Given the description of an element on the screen output the (x, y) to click on. 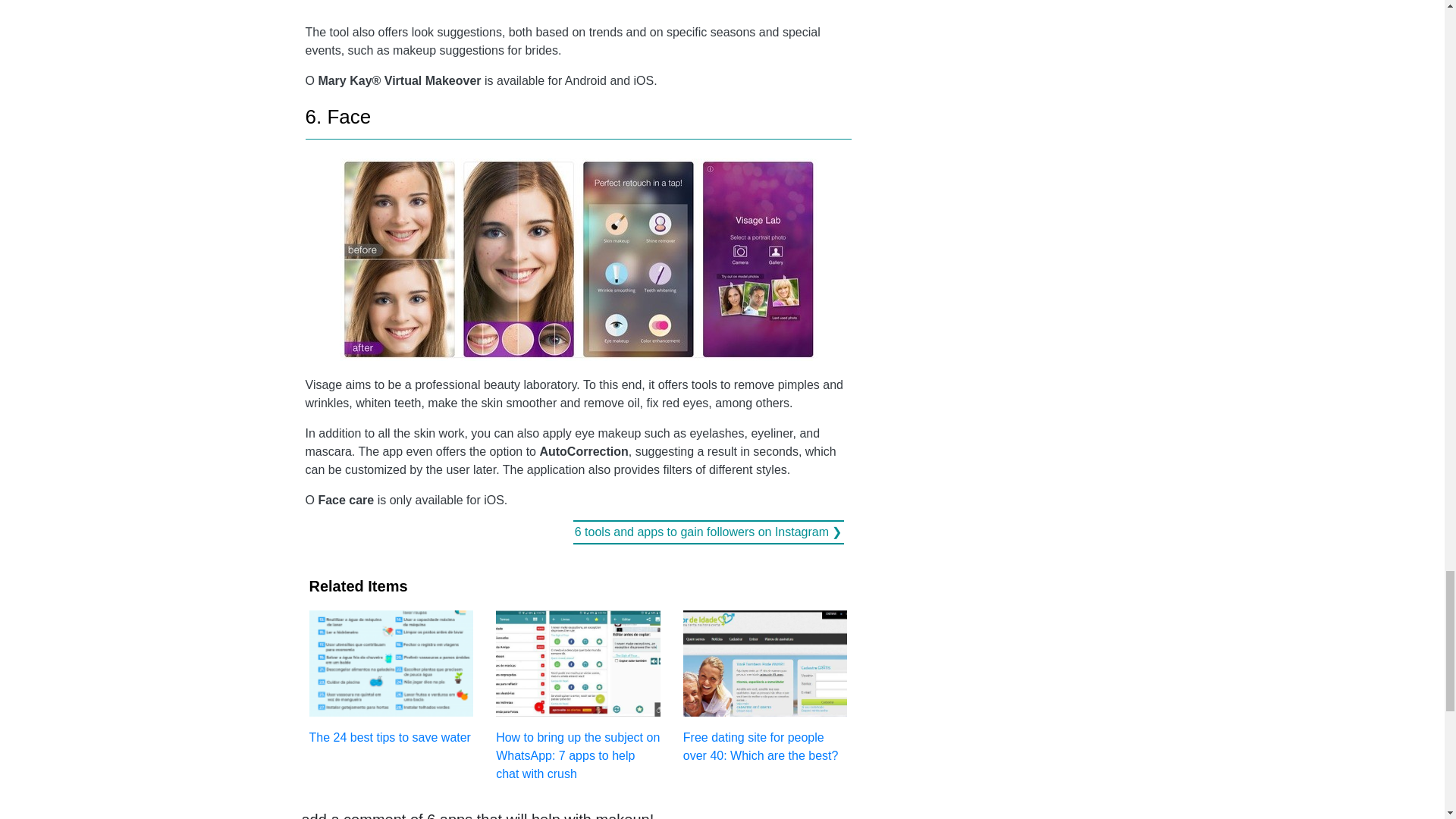
The 24 best tips to save water (391, 676)
6. Face (337, 116)
The 24 best tips to save water (391, 676)
Free dating site for people over 40: Which are the best? (764, 686)
Free dating site for people over 40: Which are the best? (764, 686)
